Given the description of an element on the screen output the (x, y) to click on. 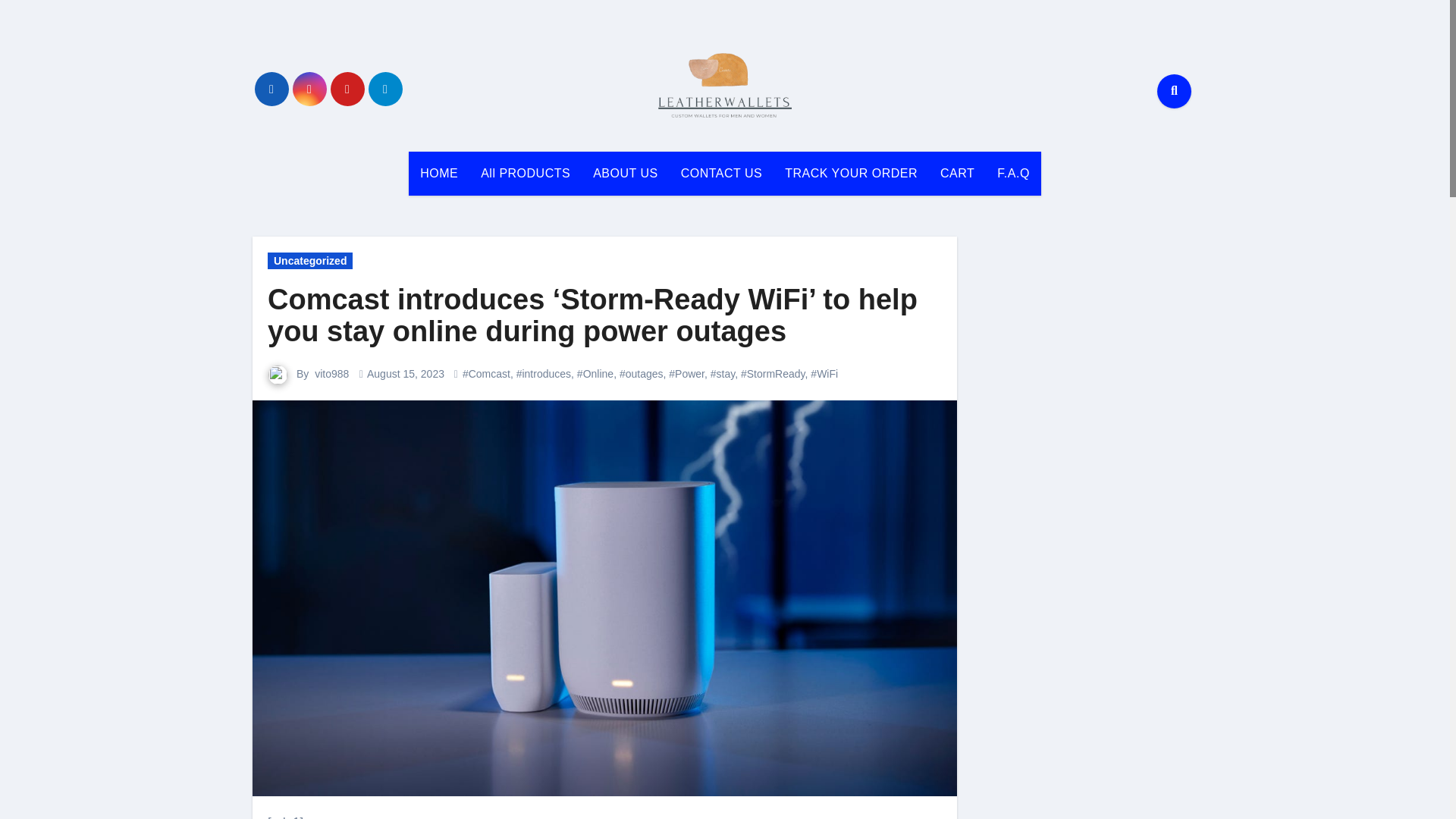
August 15, 2023 (405, 373)
CART (956, 173)
TRACK YOUR ORDER (850, 173)
F.A.Q (1013, 173)
CART (956, 173)
CONTACT US (721, 173)
F.A.Q (1013, 173)
HOME (438, 173)
vito988 (331, 373)
HOME (438, 173)
ABOUT US (624, 173)
TRACK YOUR ORDER (850, 173)
ABOUT US (624, 173)
All PRODUCTS (524, 173)
All PRODUCTS (524, 173)
